Given the description of an element on the screen output the (x, y) to click on. 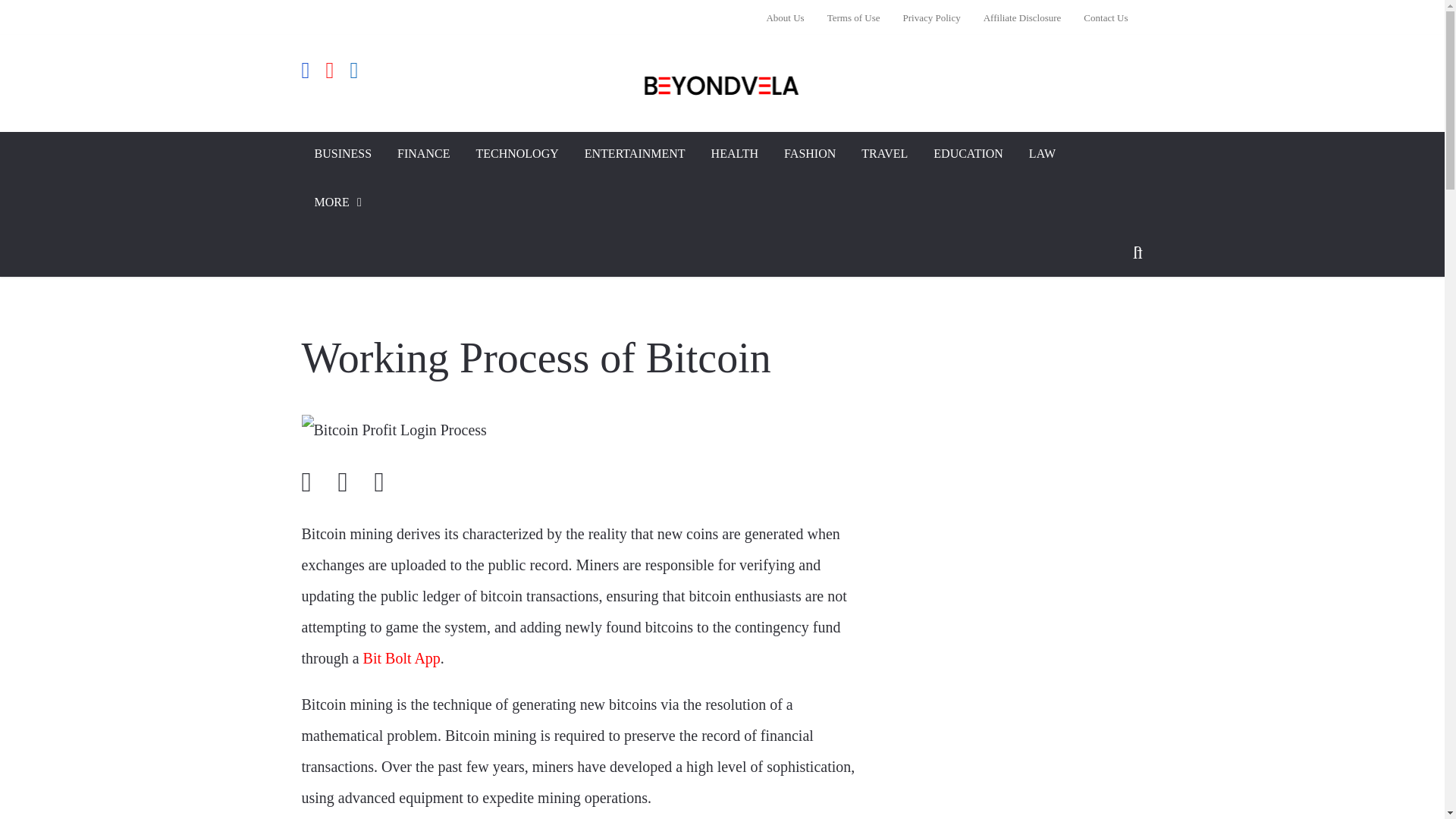
TRAVEL (884, 155)
Contact Us (1098, 17)
Bit Bolt App (401, 658)
LAW (1042, 155)
BUSINESS (343, 155)
EDUCATION (968, 155)
Terms of Use (853, 17)
ENTERTAINMENT (635, 155)
About Us (790, 17)
TECHNOLOGY (516, 155)
